Given the description of an element on the screen output the (x, y) to click on. 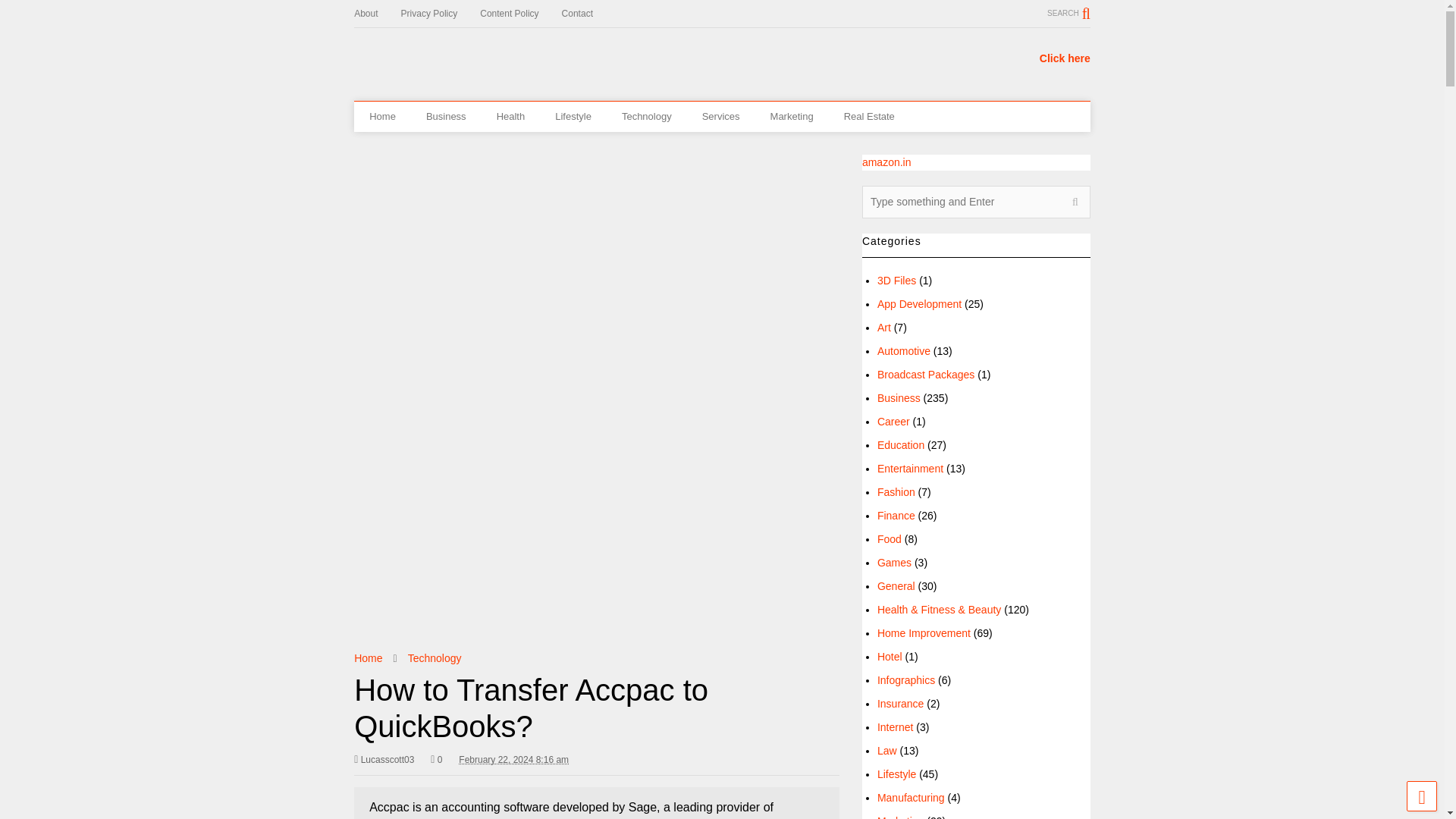
Get Live Post (429, 56)
Marketing (791, 116)
Health (510, 116)
Real Estate (869, 116)
Contact (588, 13)
Lucasscott03 (383, 759)
SEARCH (1068, 13)
Home (367, 657)
February 22, 2024 8:16 am (513, 759)
Lifestyle (573, 116)
